Given the description of an element on the screen output the (x, y) to click on. 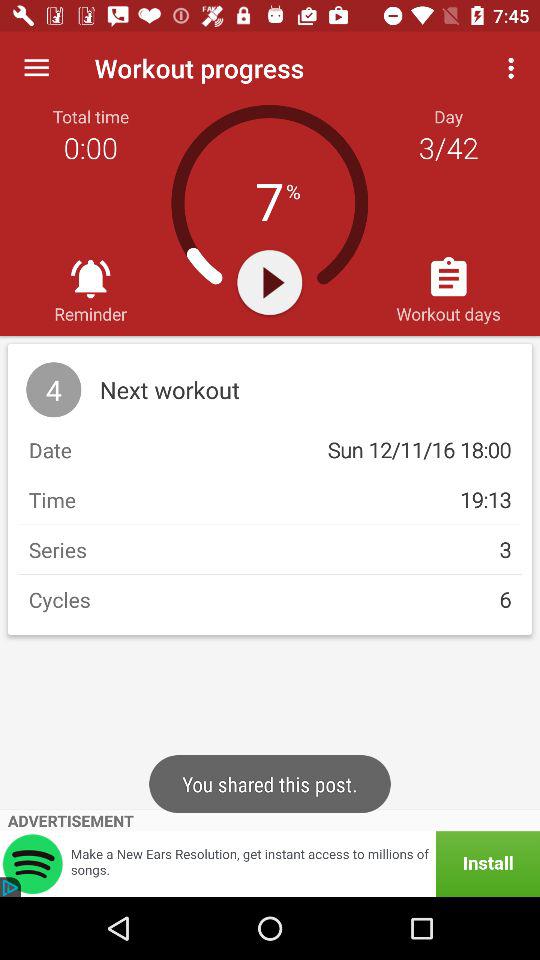
choose the icon above workout days (513, 67)
